Given the description of an element on the screen output the (x, y) to click on. 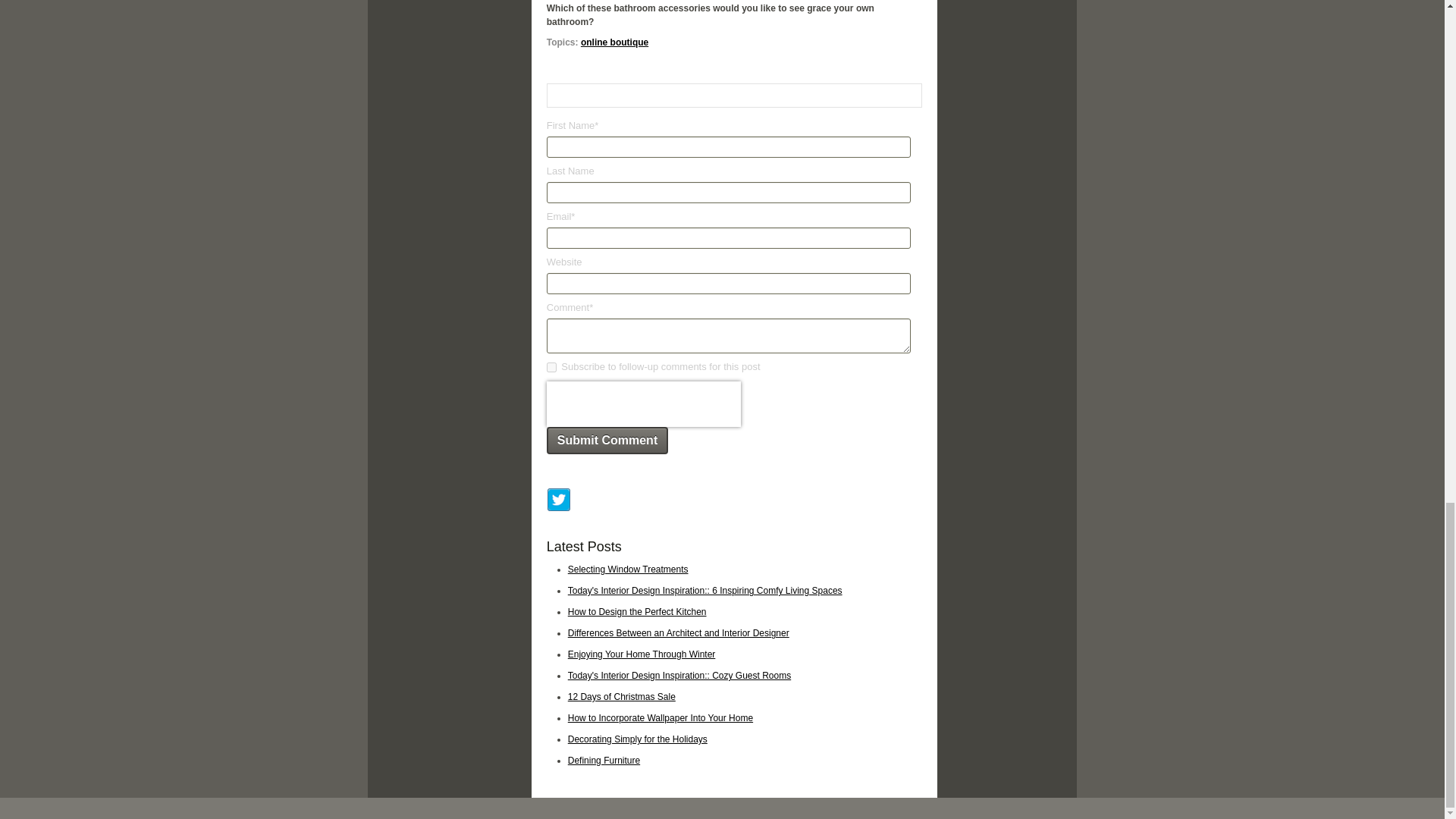
online boutique (613, 41)
Selecting Window Treatments (627, 569)
Enjoying Your Home Through Winter (641, 654)
Defining Furniture (603, 760)
Follow us on Twitter (558, 500)
Today's Interior Design Inspiration:: Cozy Guest Rooms (678, 675)
true (551, 367)
reCAPTCHA (644, 403)
Differences Between an Architect and Interior Designer (678, 633)
Submit Comment (607, 440)
How to Incorporate Wallpaper Into Your Home (659, 717)
Decorating Simply for the Holidays (637, 738)
12 Days of Christmas Sale (621, 696)
How to Design the Perfect Kitchen (636, 611)
